Given the description of an element on the screen output the (x, y) to click on. 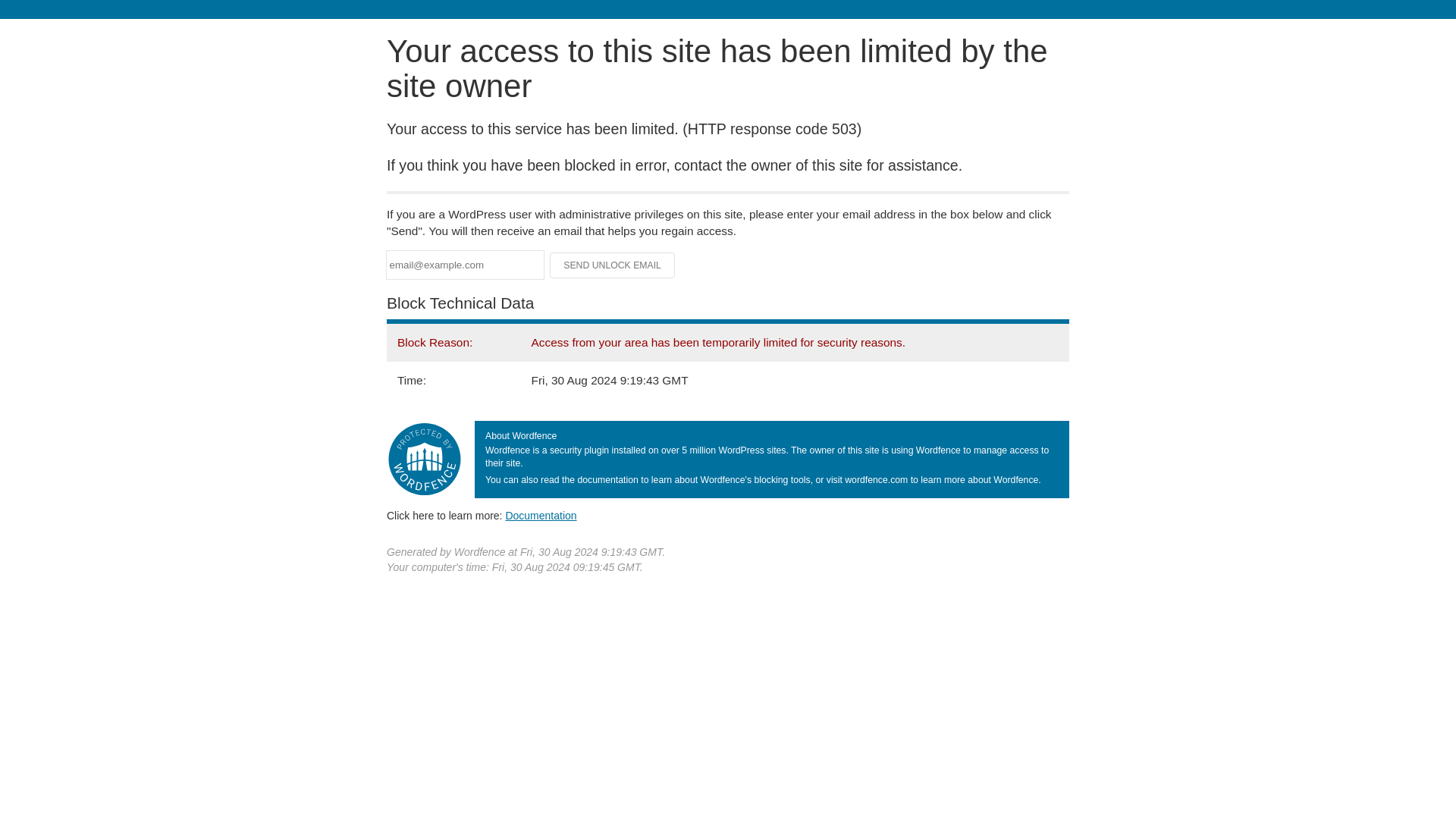
Send Unlock Email (612, 265)
Documentation (540, 515)
Send Unlock Email (612, 265)
